Given the description of an element on the screen output the (x, y) to click on. 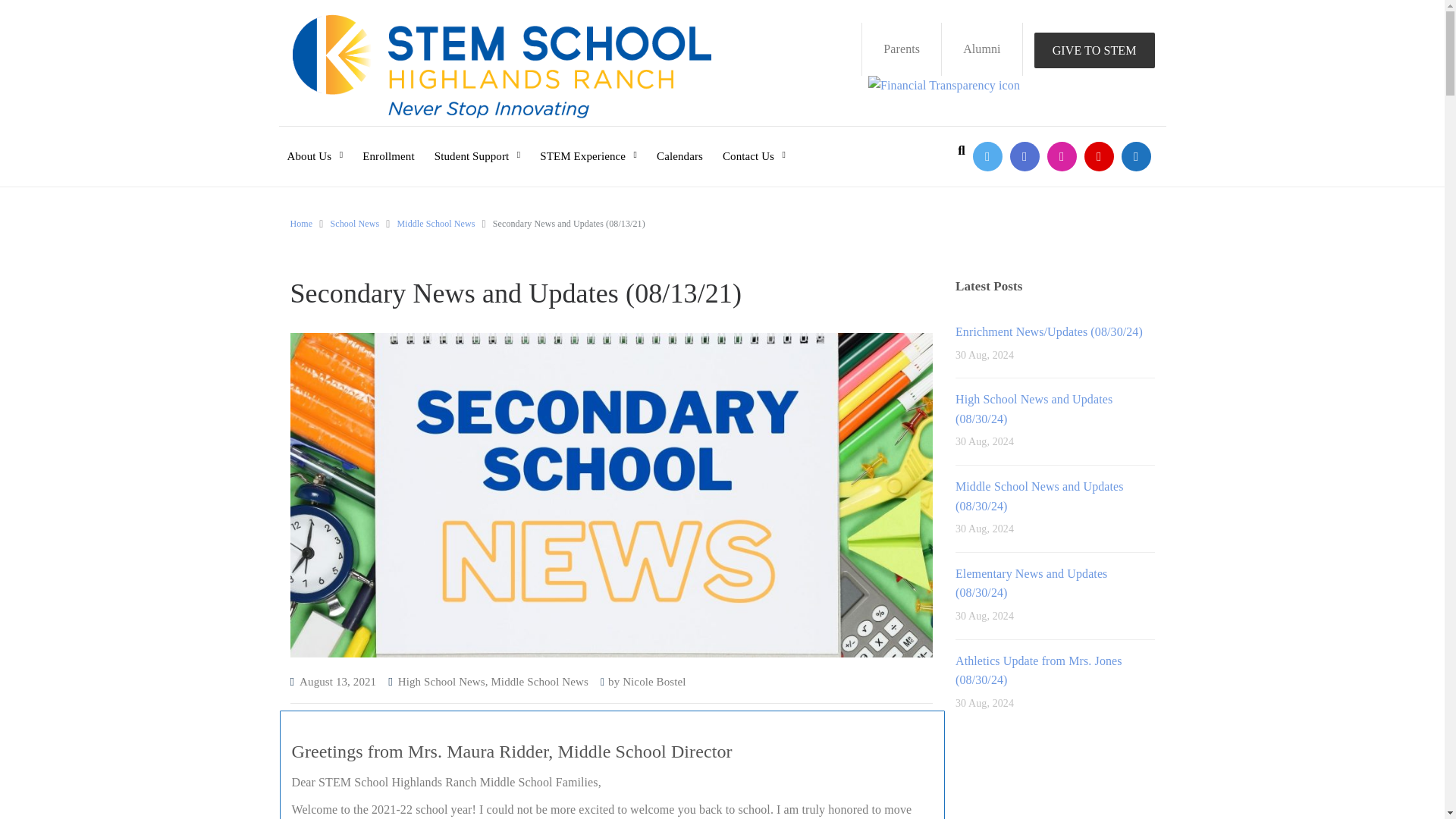
GIVE TO STEM (1093, 49)
STEMSchoolHighlandsRanch (1024, 156)
View all posts by Nicole Bostel (654, 681)
STEMSchoolHR (987, 156)
Financial Transparency icon (943, 85)
